Given the description of an element on the screen output the (x, y) to click on. 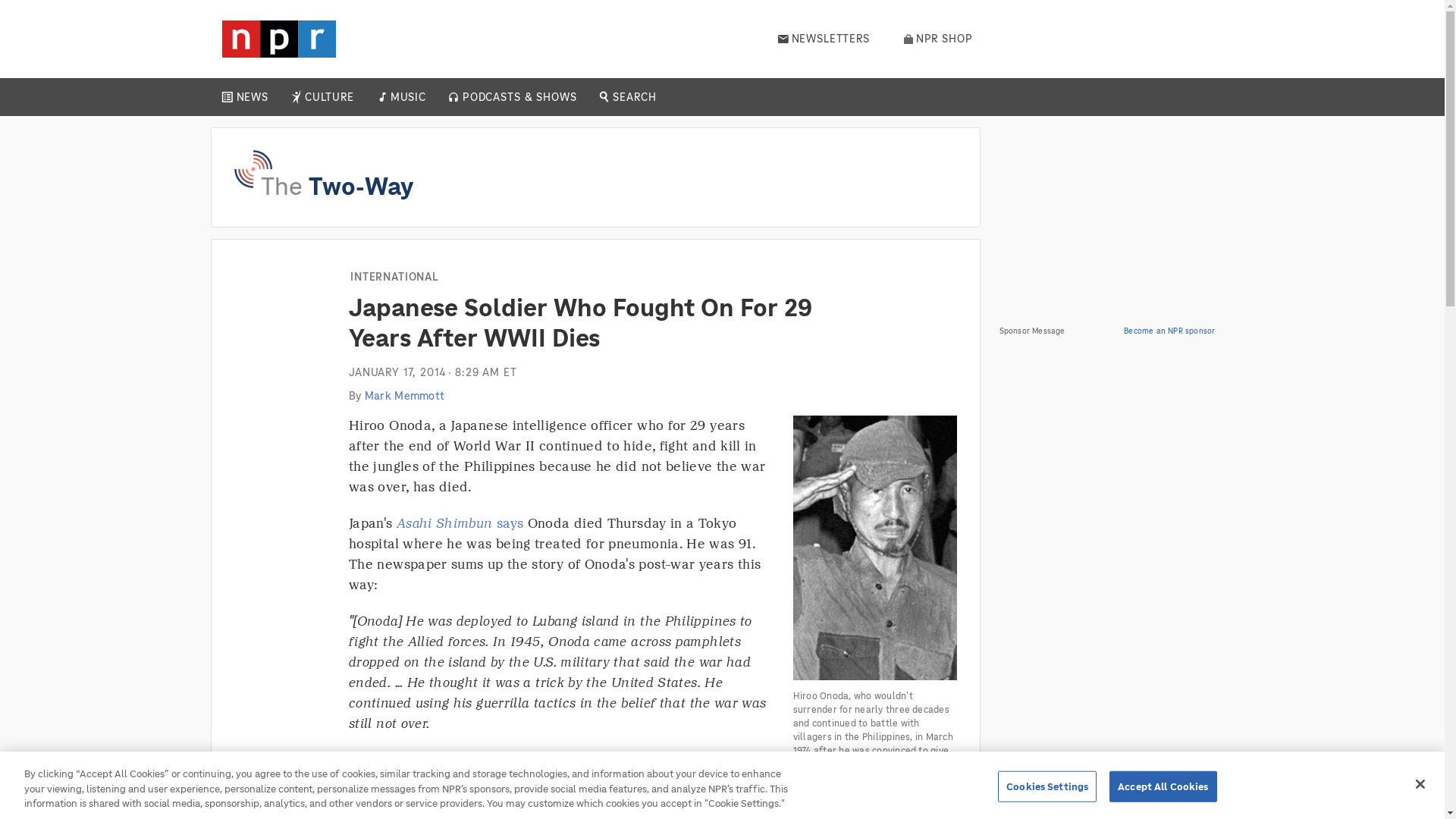
NEWS (251, 96)
MUSIC (407, 96)
NEWSLETTERS (823, 38)
CULTURE (328, 96)
NPR SHOP (938, 38)
